Given the description of an element on the screen output the (x, y) to click on. 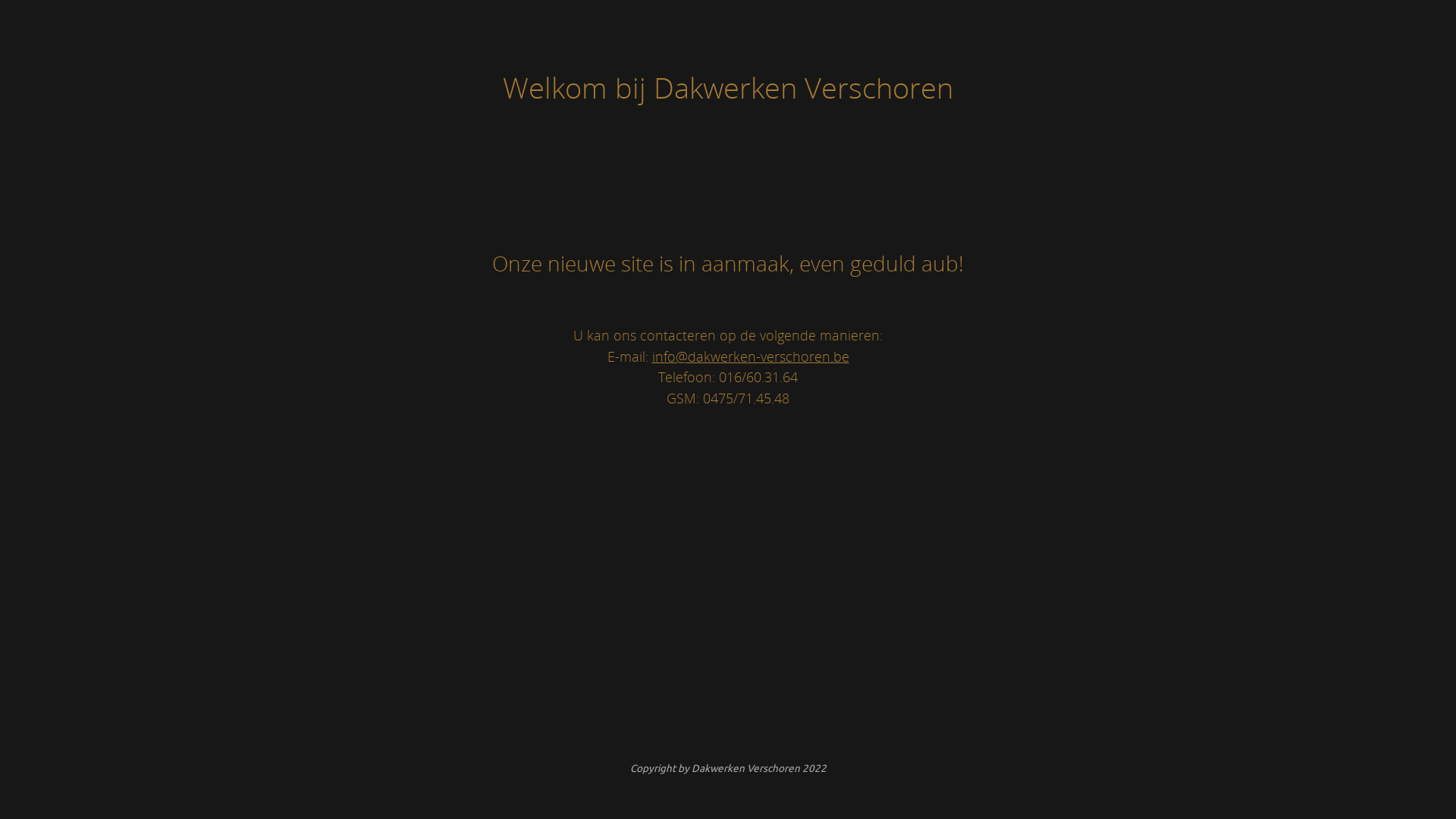
info@dakwerken-verschoren.be Element type: text (750, 355)
